Given the description of an element on the screen output the (x, y) to click on. 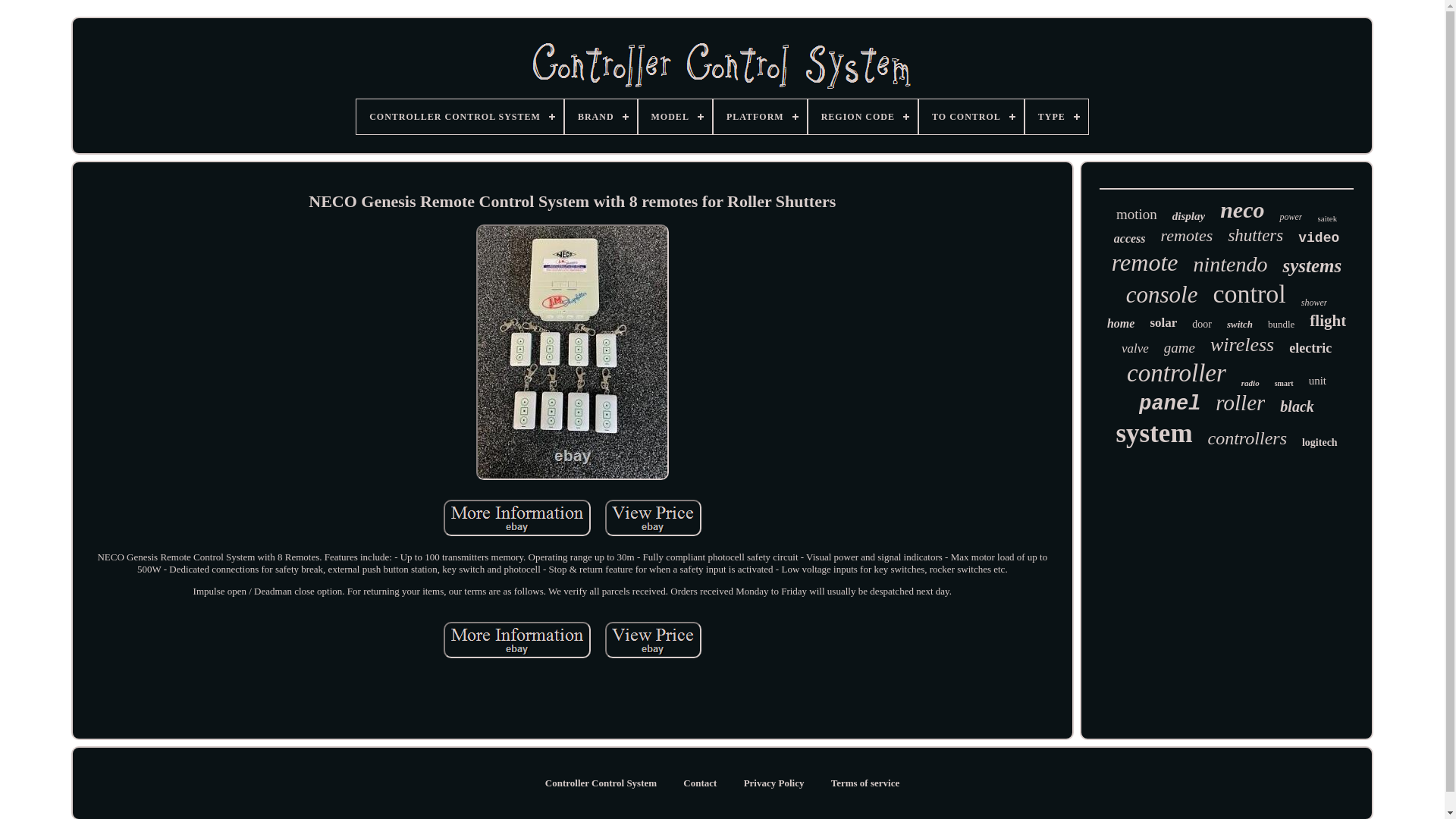
BRAND (600, 116)
MODEL (675, 116)
CONTROLLER CONTROL SYSTEM (459, 116)
